Given the description of an element on the screen output the (x, y) to click on. 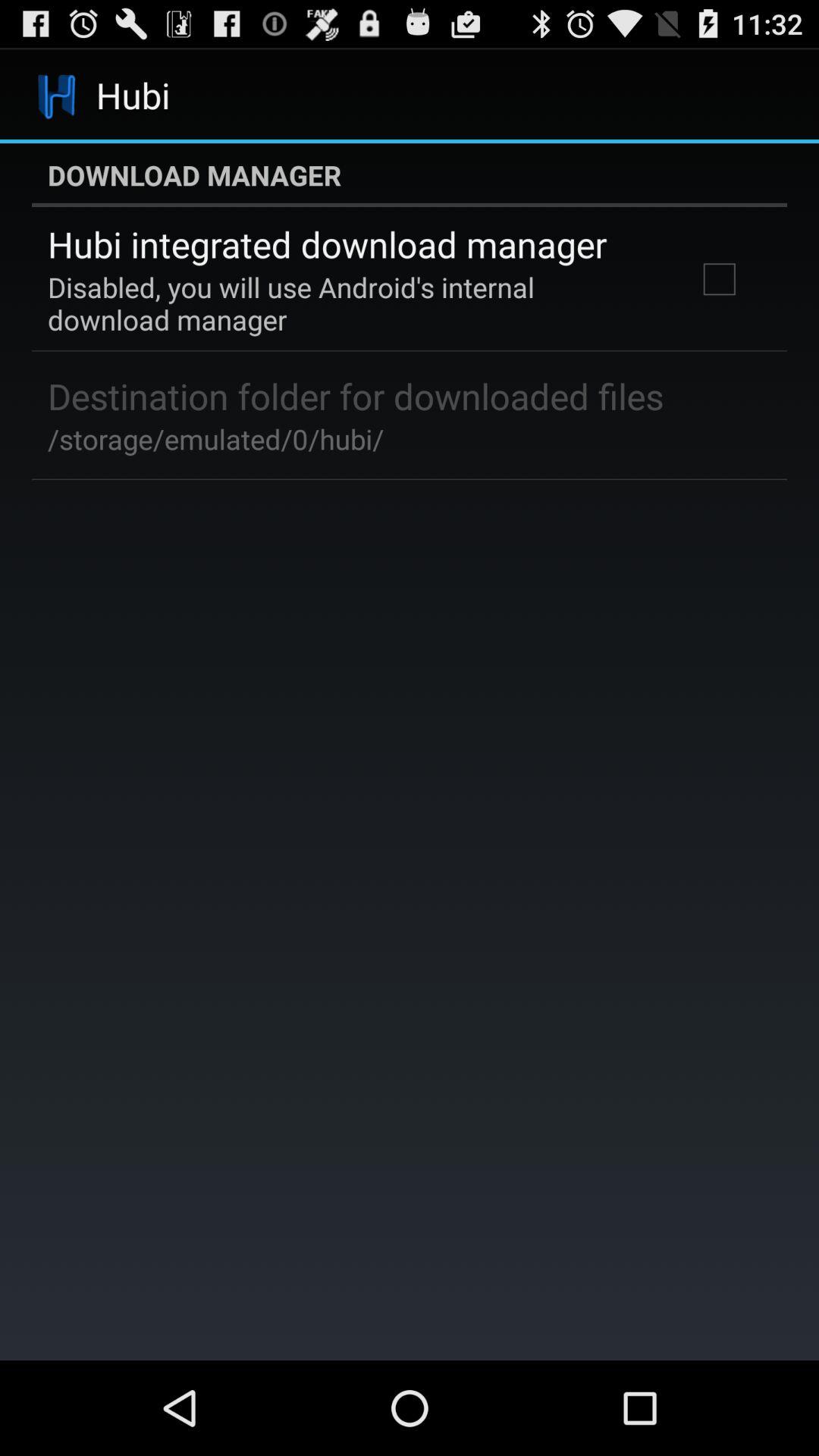
launch app below download manager app (719, 279)
